Given the description of an element on the screen output the (x, y) to click on. 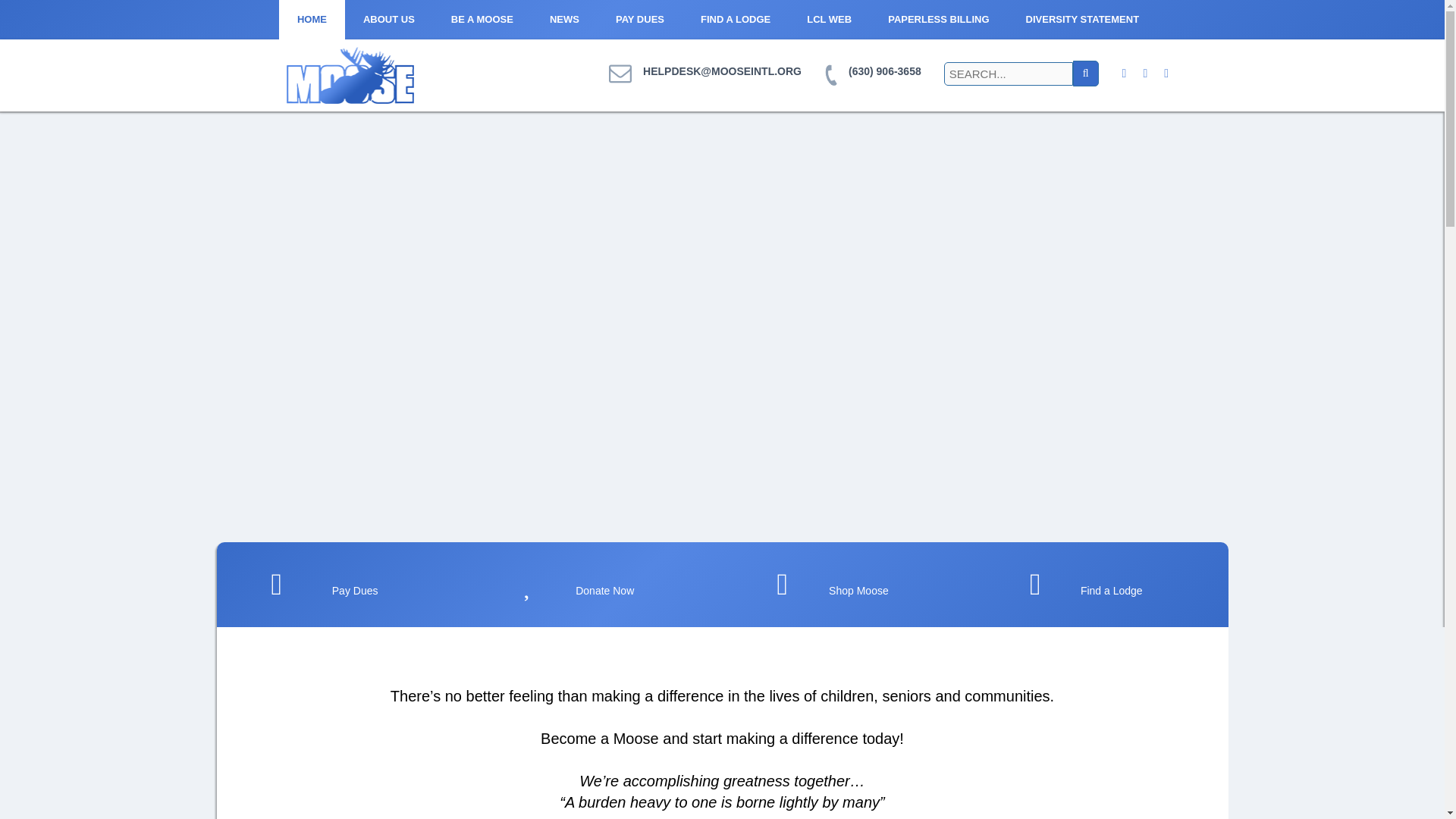
BE A MOOSE (481, 19)
ABOUT US (388, 19)
PAPERLESS BILLING (938, 19)
PAY DUES (639, 19)
NEWS (563, 19)
FIND A LODGE (735, 19)
HOME (312, 19)
LCL WEB (829, 19)
DIVERSITY STATEMENT (1082, 19)
